Given the description of an element on the screen output the (x, y) to click on. 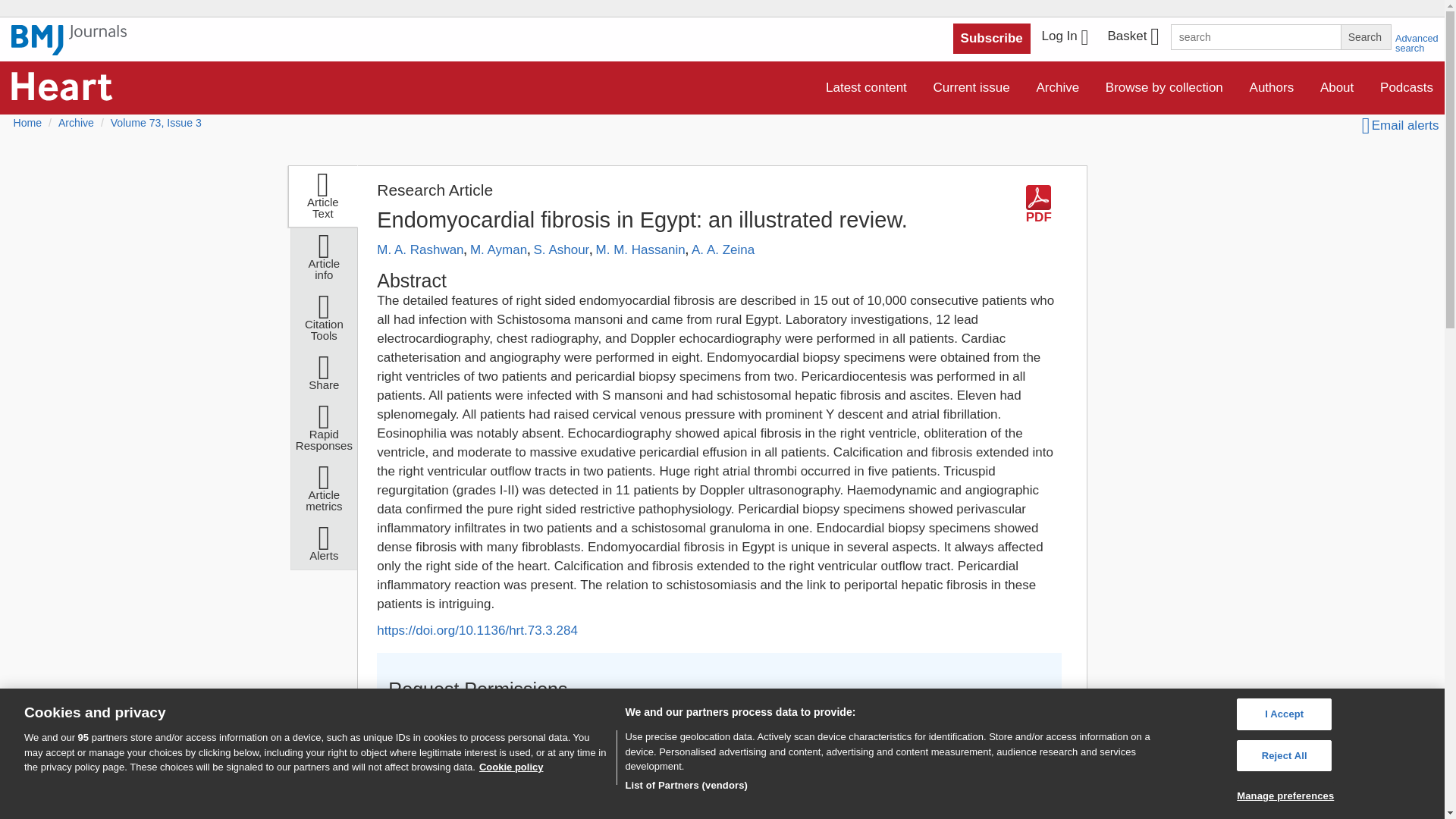
Advanced search (1416, 43)
Log In (1064, 38)
About (1336, 87)
Search (1364, 36)
Authors (1272, 87)
Current issue (971, 87)
BMJ Journals (68, 40)
Latest content (865, 87)
Browse by collection (1164, 87)
